Given the description of an element on the screen output the (x, y) to click on. 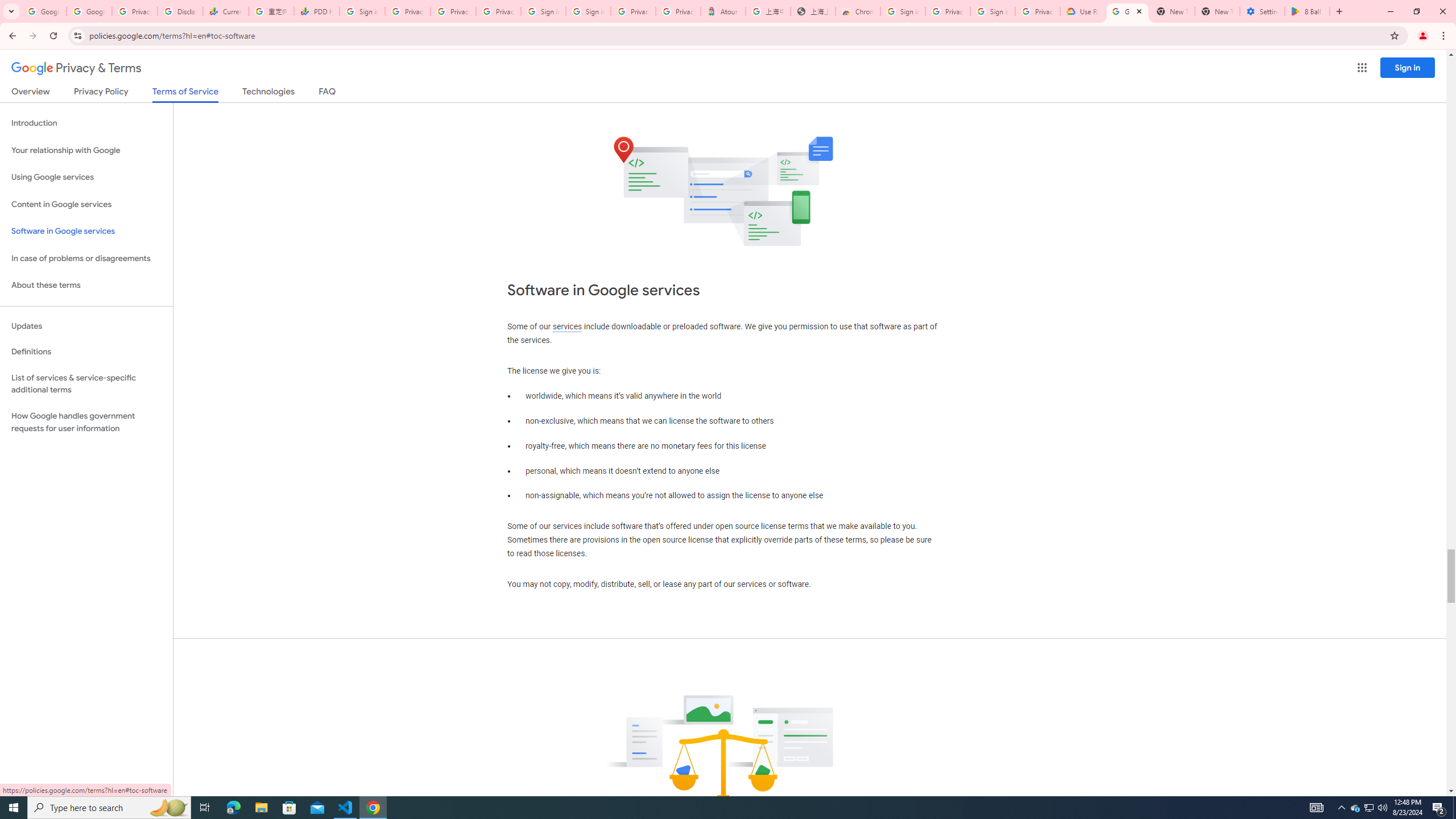
New Tab (1216, 11)
Atour Hotel - Google hotels (723, 11)
